Given the description of an element on the screen output the (x, y) to click on. 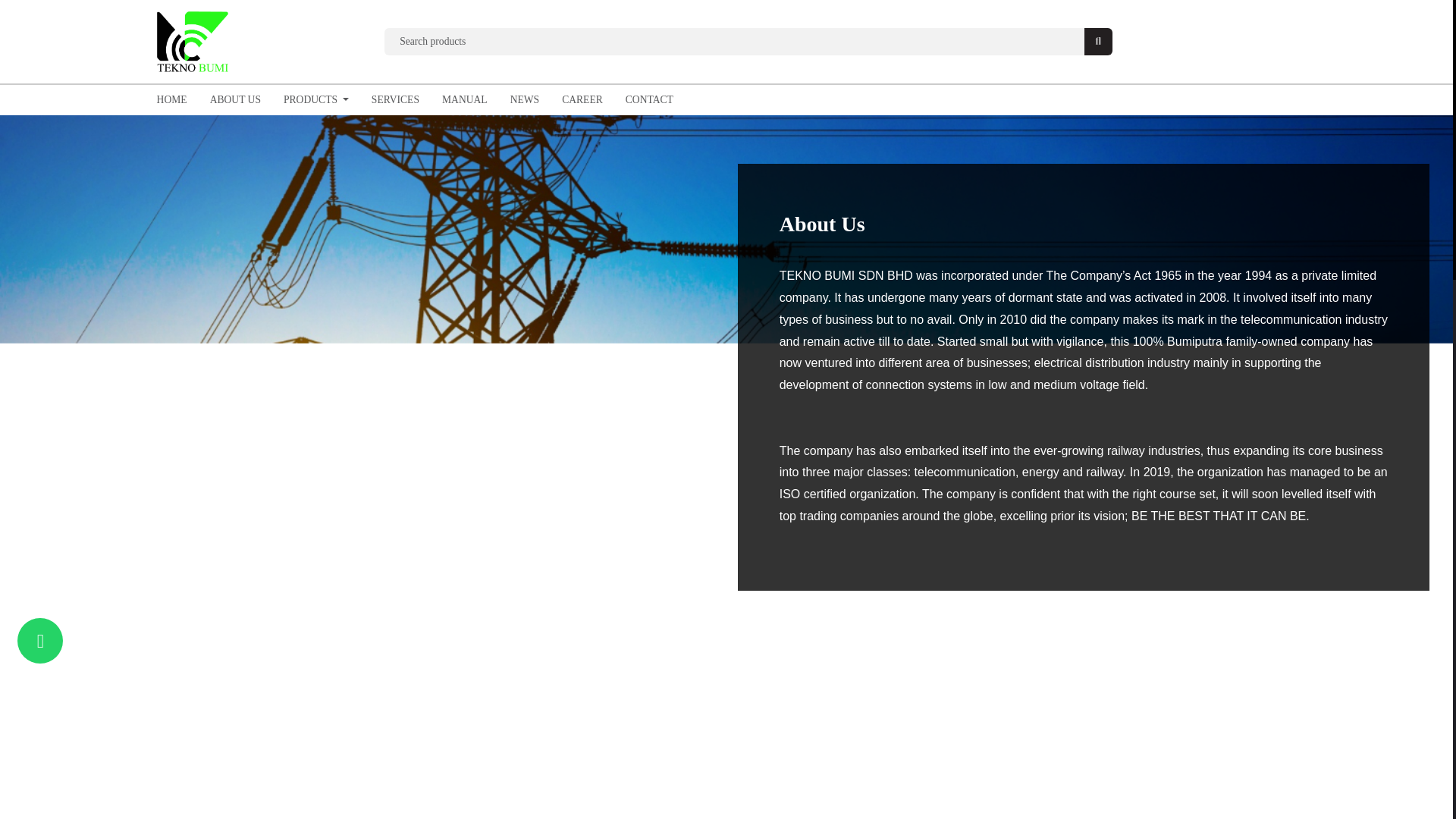
MANUAL (464, 100)
PRODUCTS (315, 100)
News (525, 100)
CONTACT (649, 100)
Services (394, 100)
CAREER (582, 100)
HOME (171, 100)
About Us (235, 100)
Manual (464, 100)
NEWS (525, 100)
ABOUT US (235, 100)
SERVICES (394, 100)
Contact (649, 100)
Products (315, 100)
Home (171, 100)
